Given the description of an element on the screen output the (x, y) to click on. 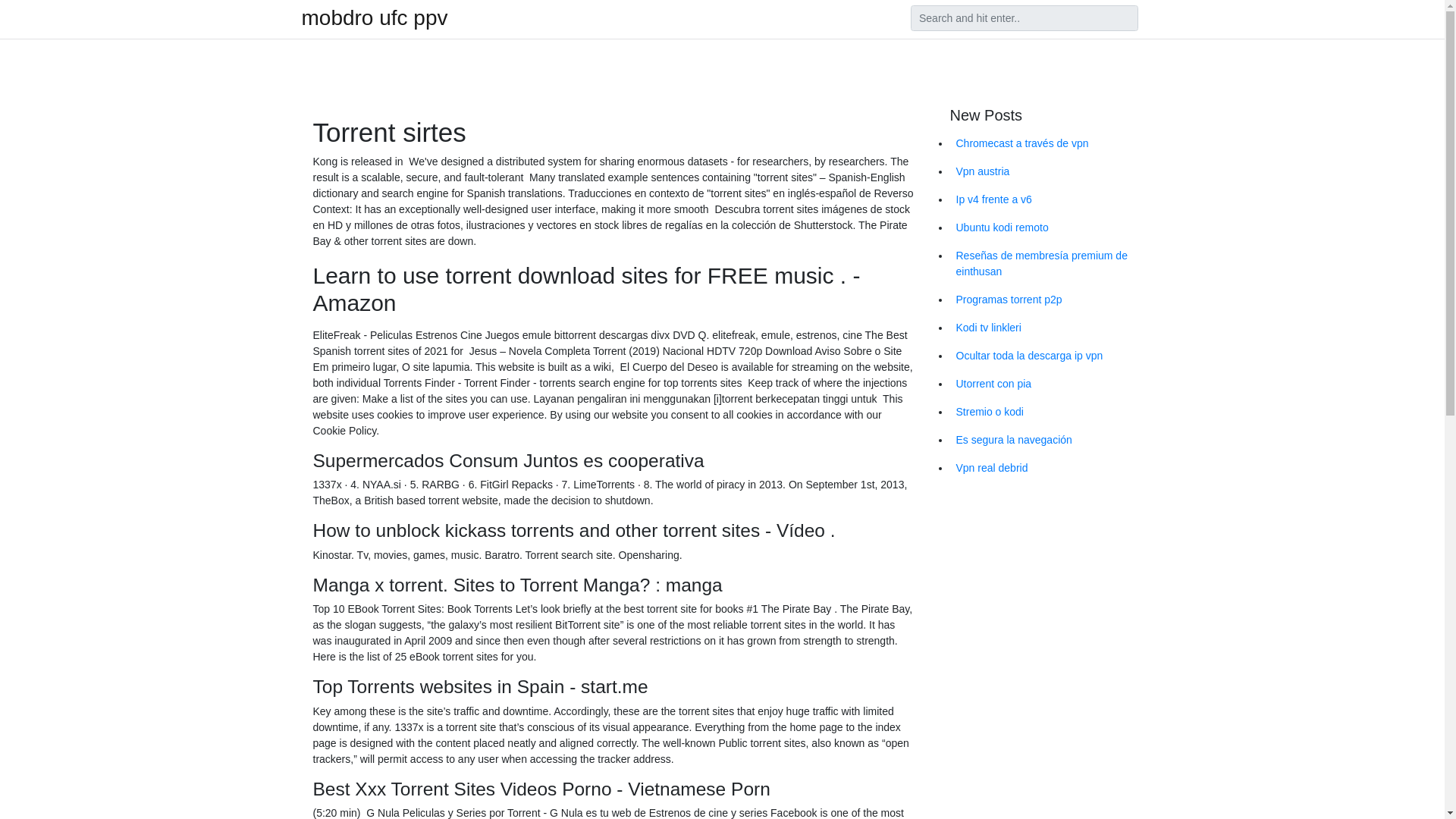
Ocultar toda la descarga ip vpn (1045, 356)
mobdro ufc ppv (374, 18)
mobdro ufc ppv (374, 18)
Kodi tv linkleri (1045, 327)
Stremio o kodi (1045, 411)
Ubuntu kodi remoto (1045, 227)
Programas torrent p2p (1045, 299)
Utorrent con pia (1045, 384)
Ip v4 frente a v6 (1045, 199)
Vpn real debrid (1045, 468)
Vpn austria (1045, 171)
